Given the description of an element on the screen output the (x, y) to click on. 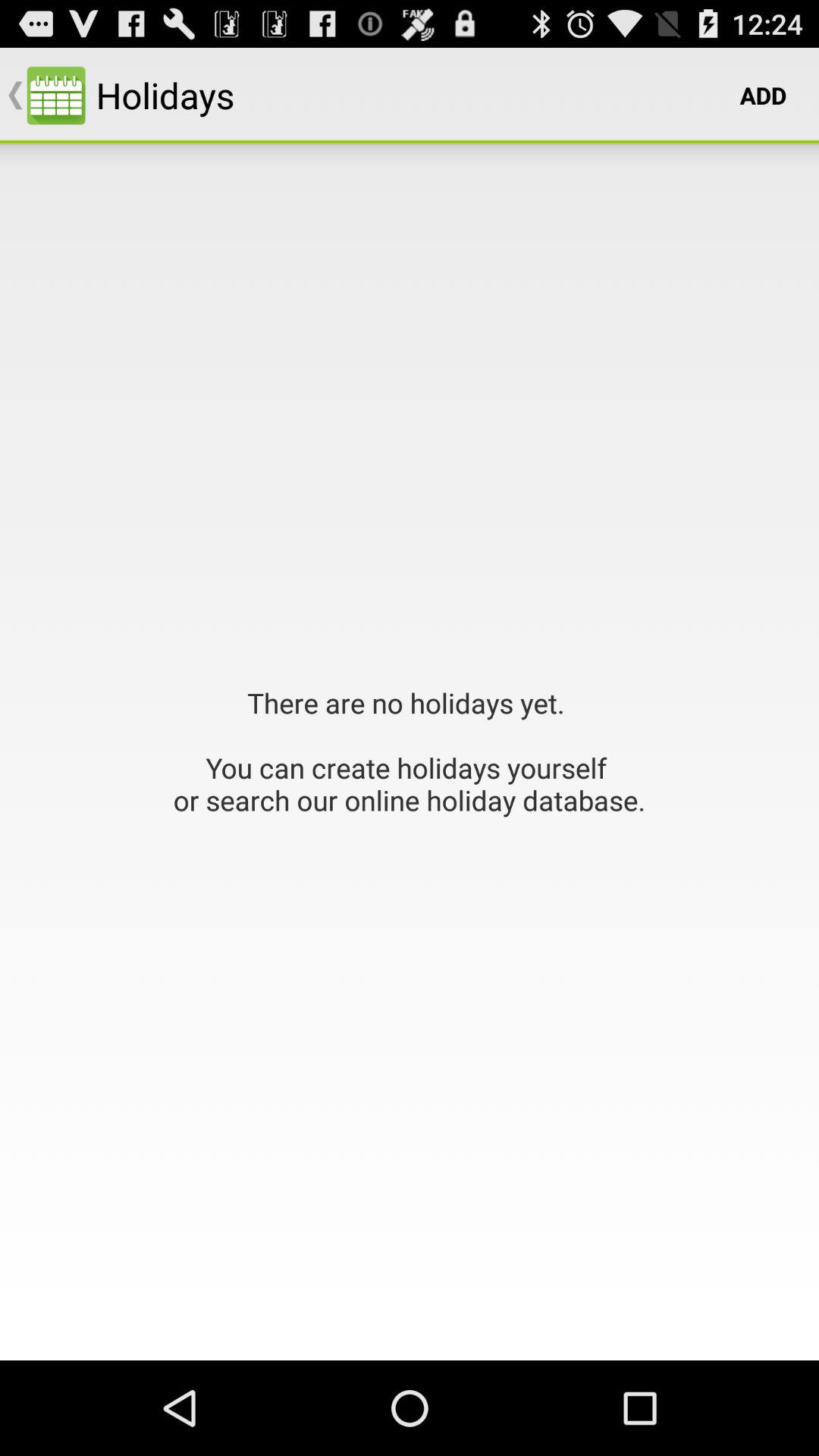
select icon above there are no item (763, 95)
